Given the description of an element on the screen output the (x, y) to click on. 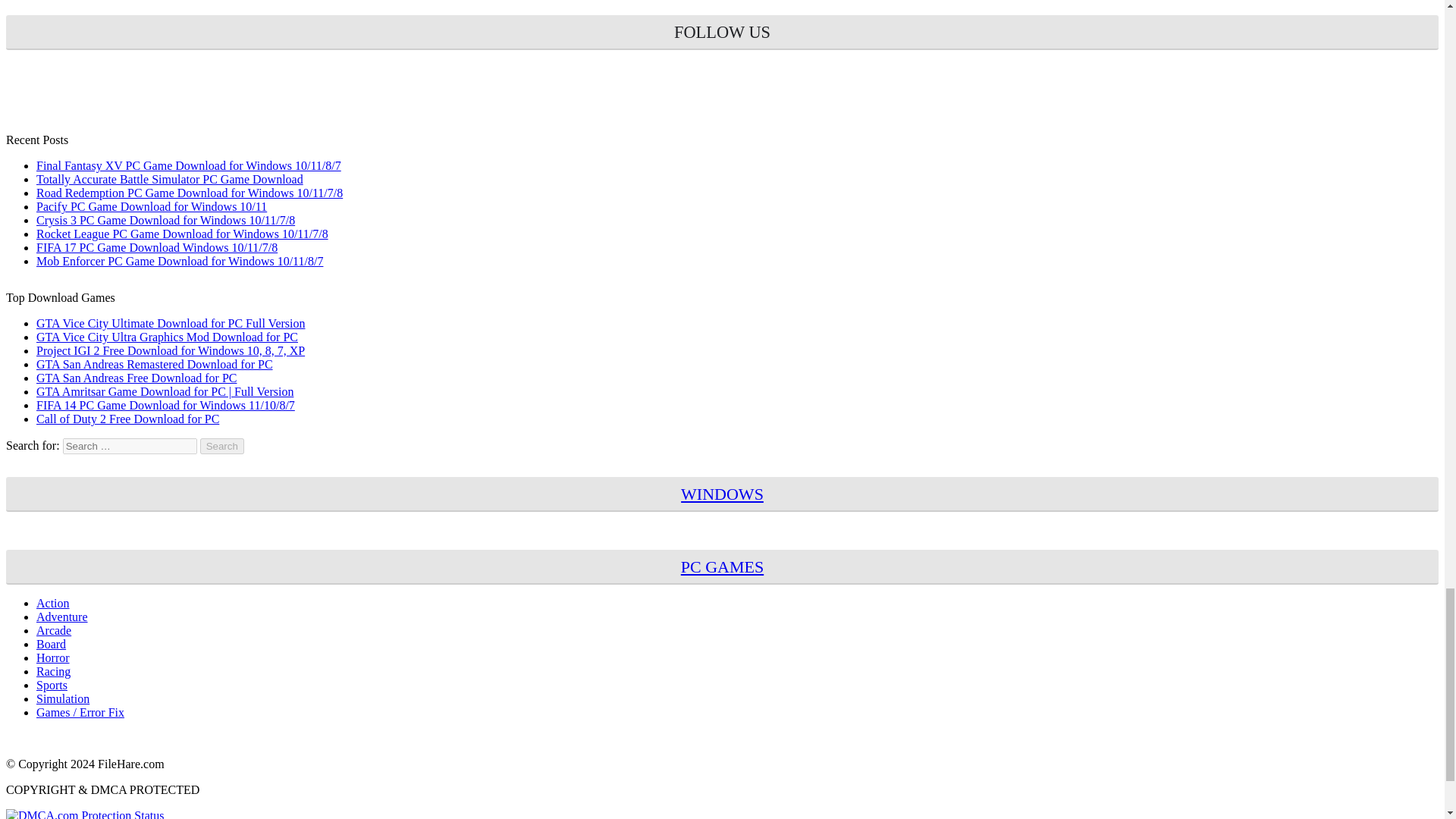
Search (222, 446)
DMCA.com Protection Status (84, 814)
Search (222, 446)
Totally Accurate Battle Simulator PC Game Download (169, 178)
